Given the description of an element on the screen output the (x, y) to click on. 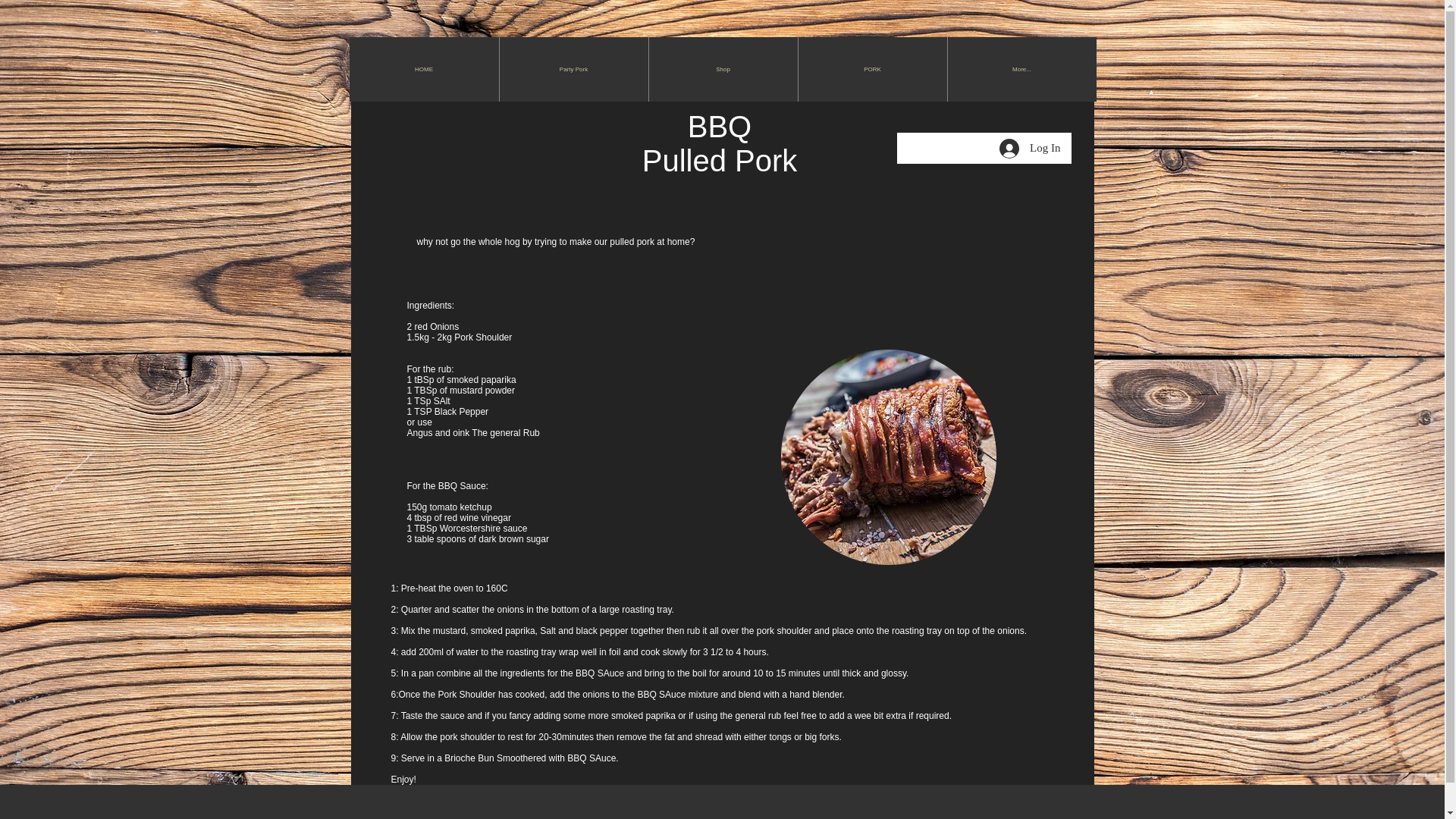
Log In (1029, 147)
Party Pork (573, 68)
Shop (721, 68)
HOME (423, 68)
PORK (872, 68)
